Given the description of an element on the screen output the (x, y) to click on. 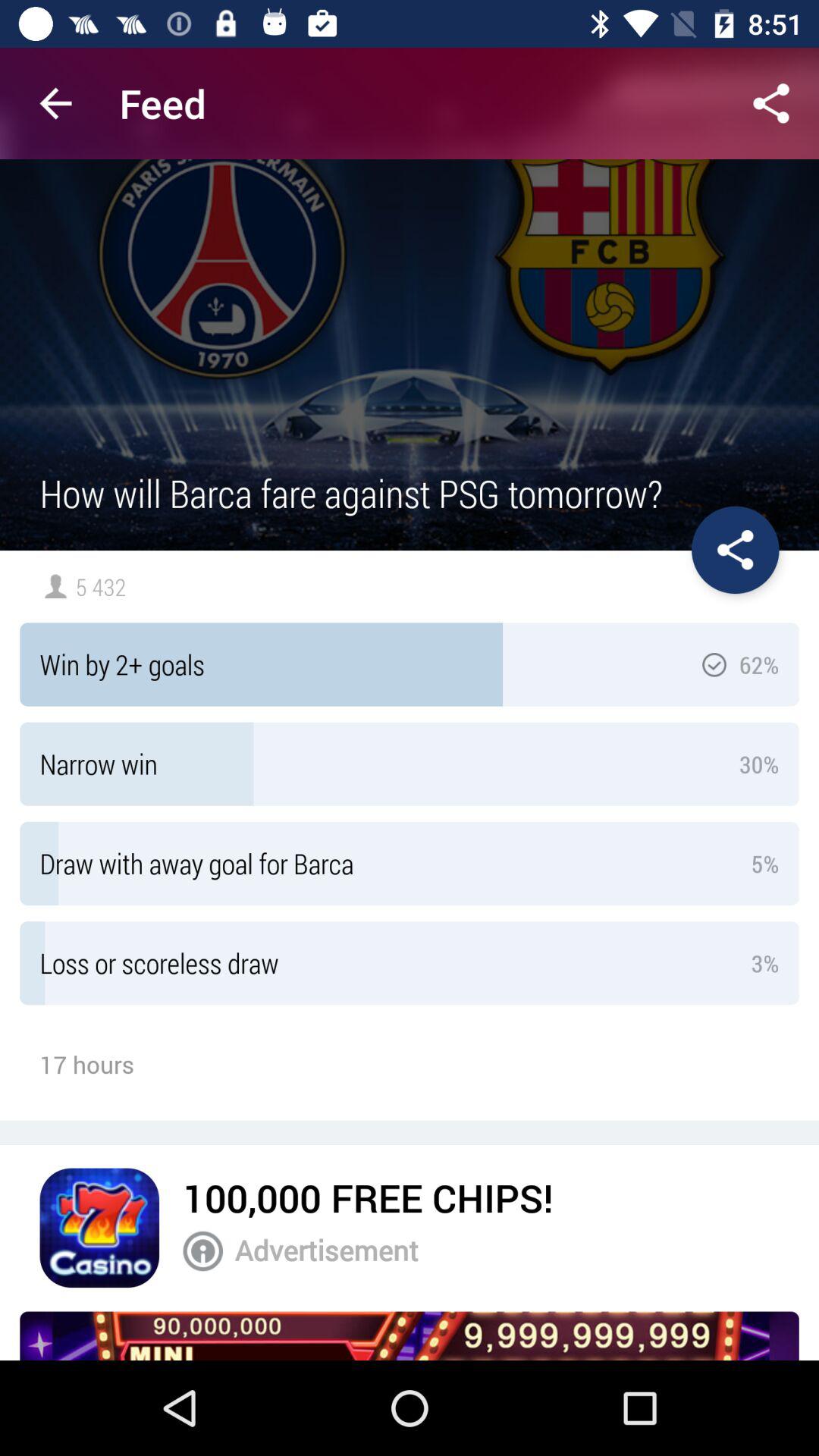
share the information (735, 549)
